Given the description of an element on the screen output the (x, y) to click on. 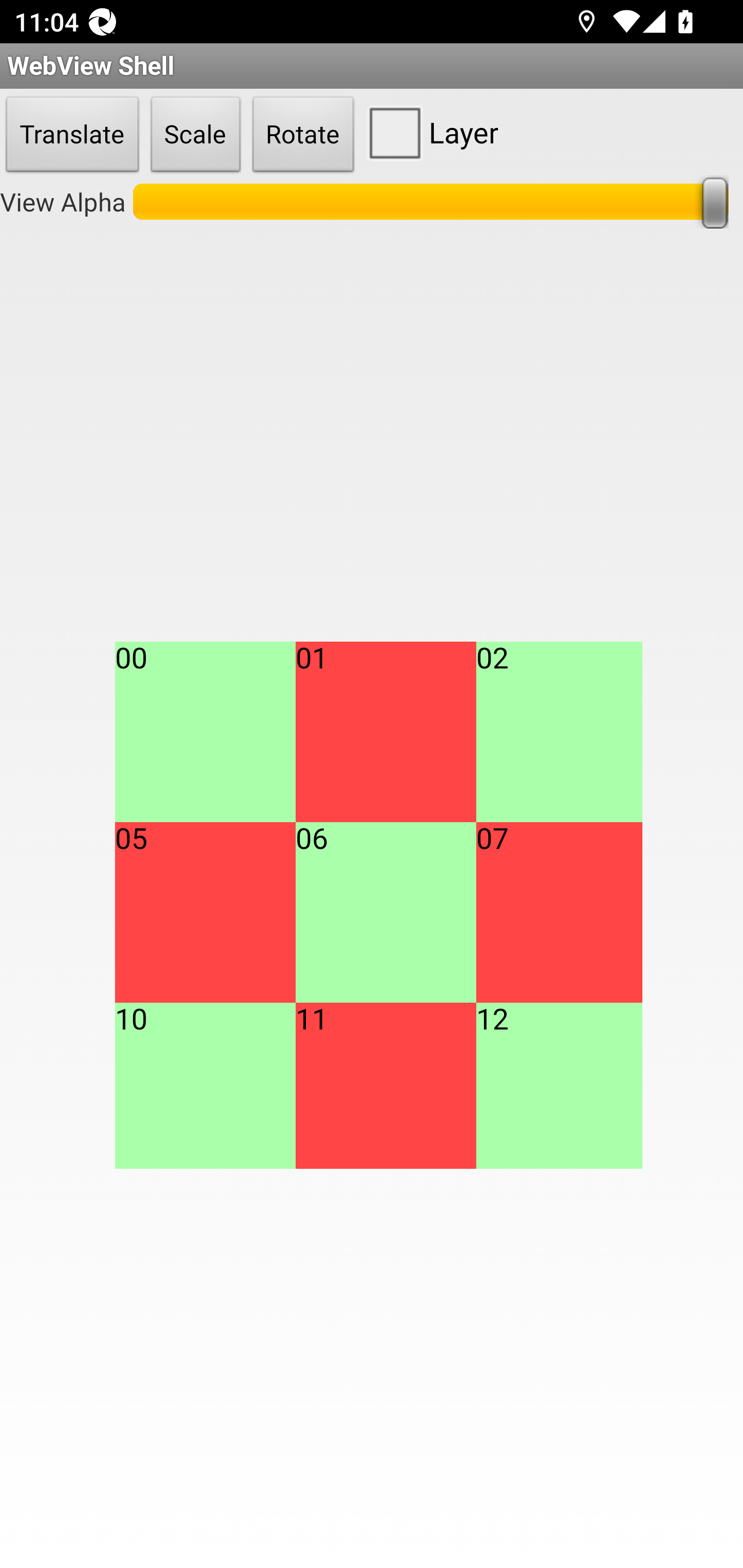
Layer (429, 132)
Translate (72, 135)
Scale (195, 135)
Rotate (303, 135)
